Given the description of an element on the screen output the (x, y) to click on. 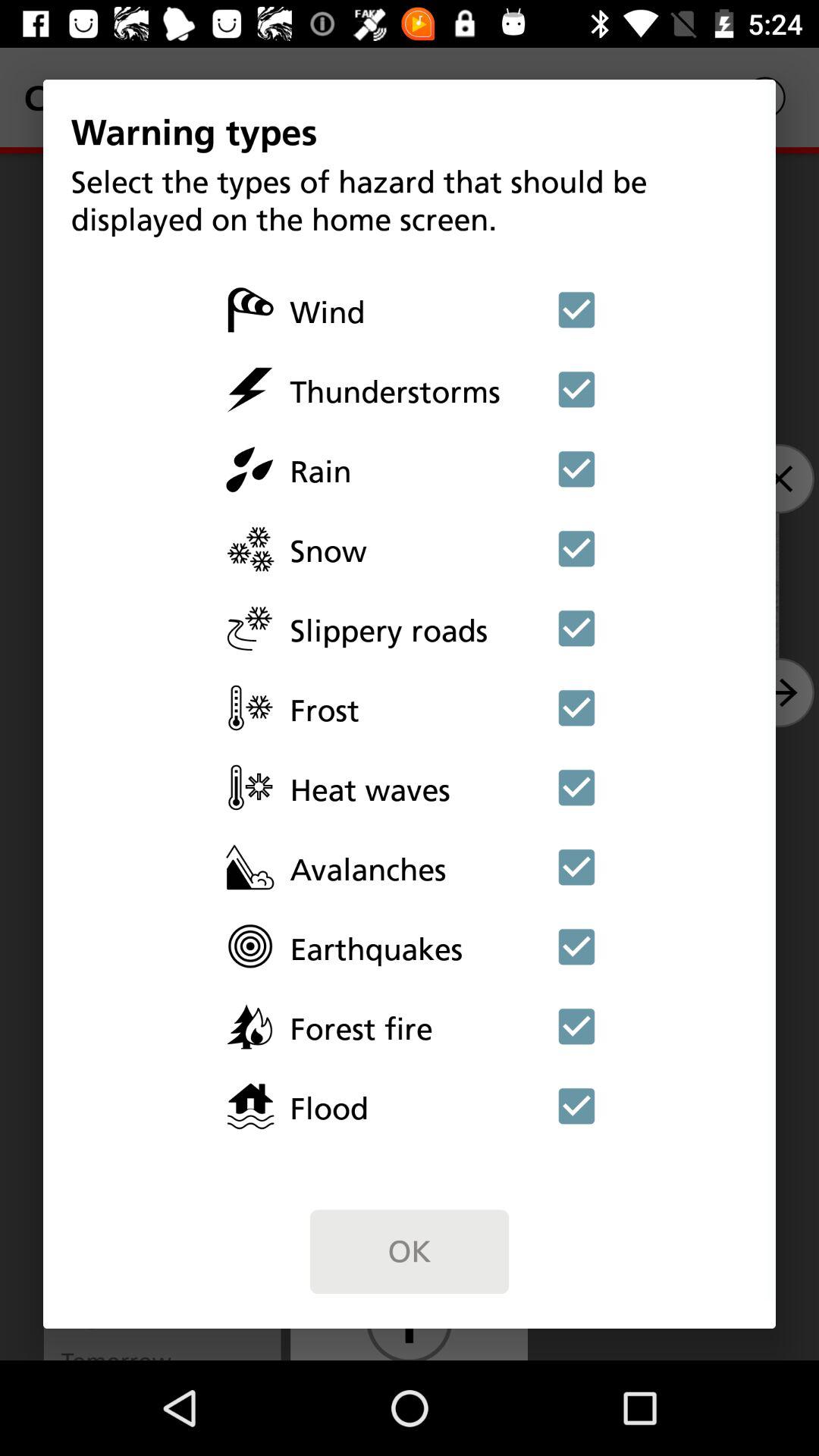
meteoswiss (576, 469)
